Given the description of an element on the screen output the (x, y) to click on. 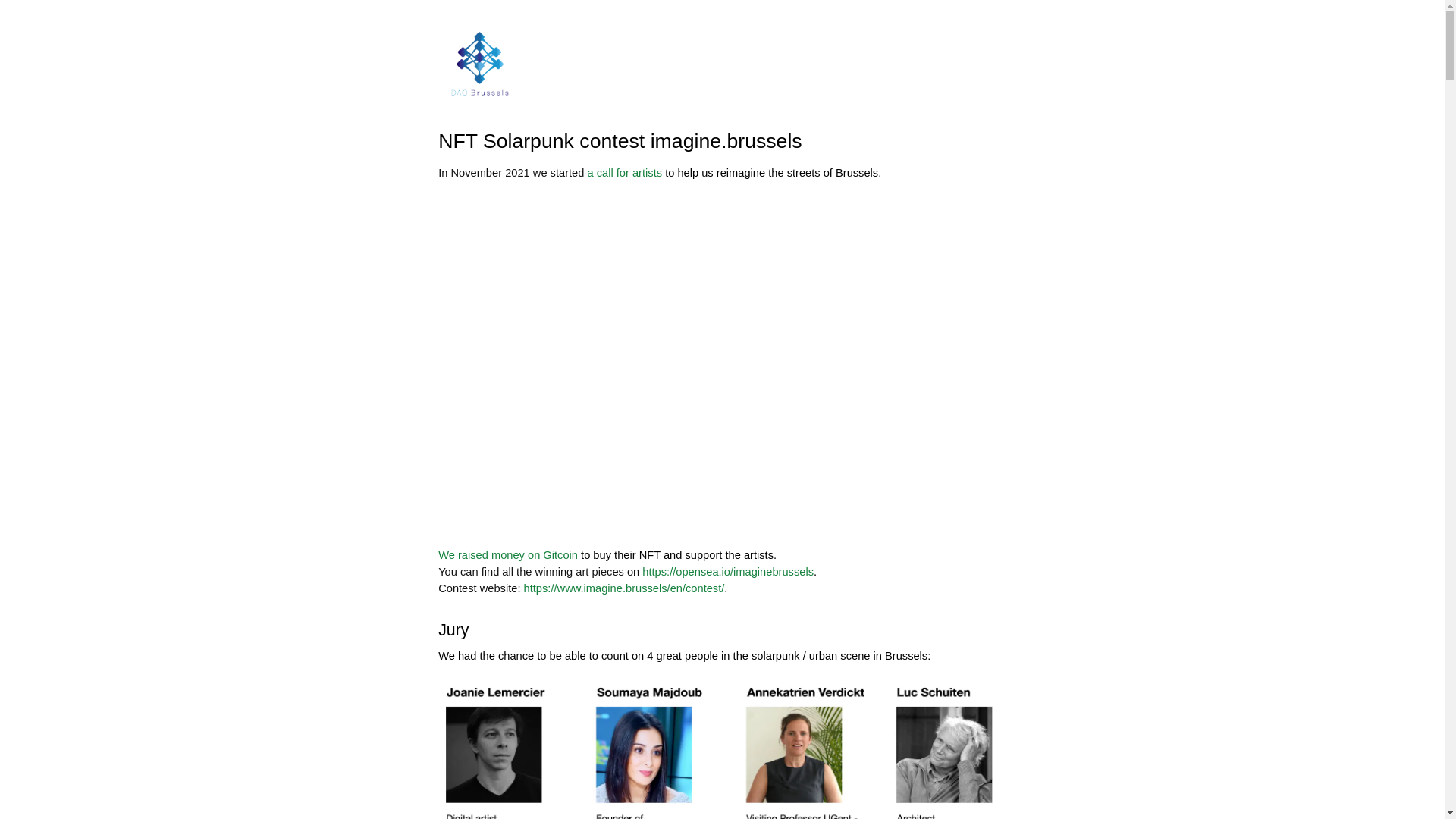
https://www.imagine.brussels/en/contest/ Element type: text (624, 588)
We raised money on Gitcoin Element type: text (507, 555)
a call for artists Element type: text (624, 172)
https://opensea.io/imaginebrussels Element type: text (727, 571)
